Given the description of an element on the screen output the (x, y) to click on. 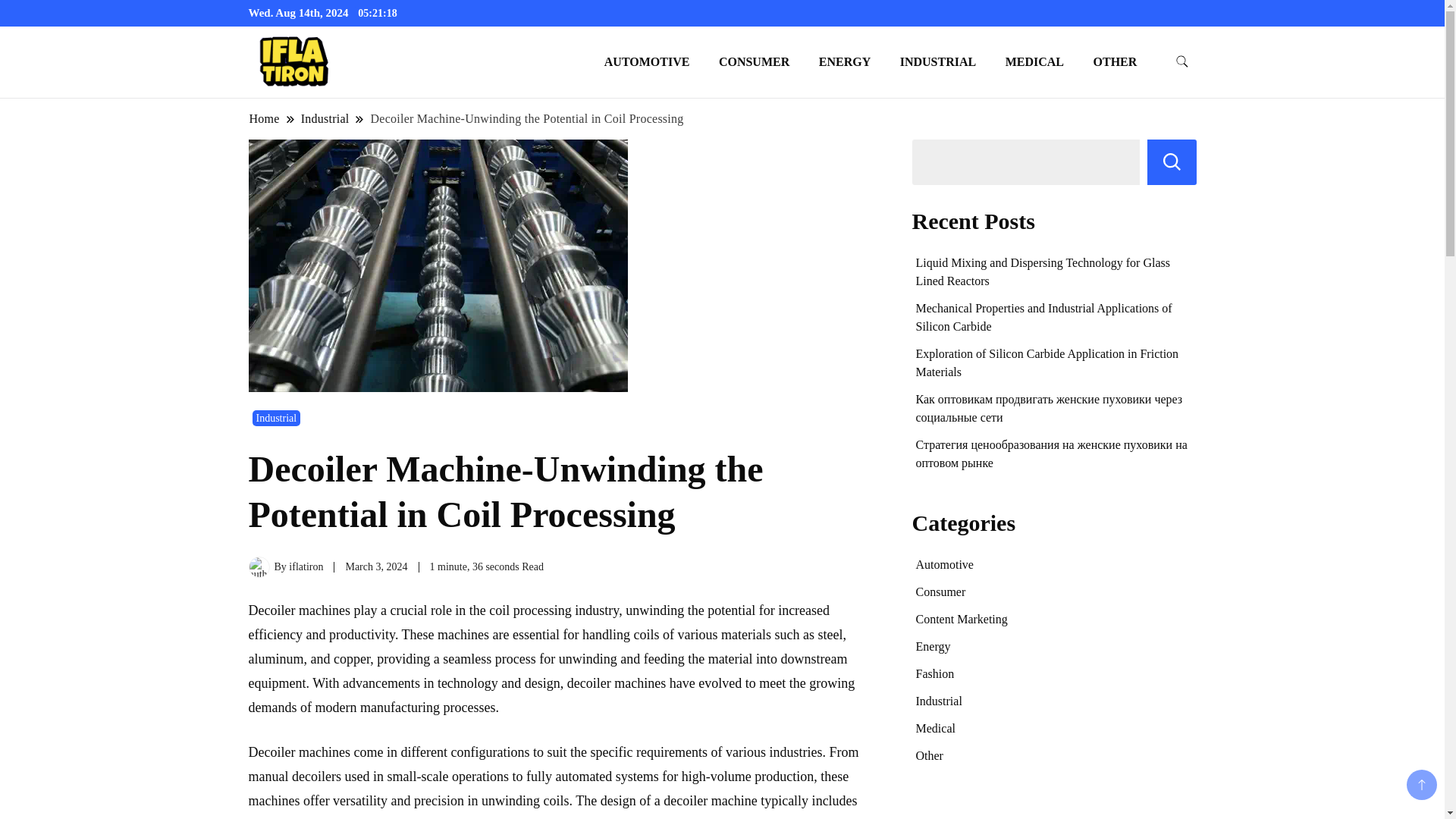
AUTOMOTIVE (647, 61)
Industrial (275, 417)
Decoiler Machine-Unwinding the Potential in Coil Processing (526, 117)
CONSUMER (754, 61)
MEDICAL (1034, 61)
INDUSTRIAL (937, 61)
Industrial (324, 117)
OTHER (1115, 61)
ENERGY (844, 61)
March 3, 2024 (376, 566)
